Given the description of an element on the screen output the (x, y) to click on. 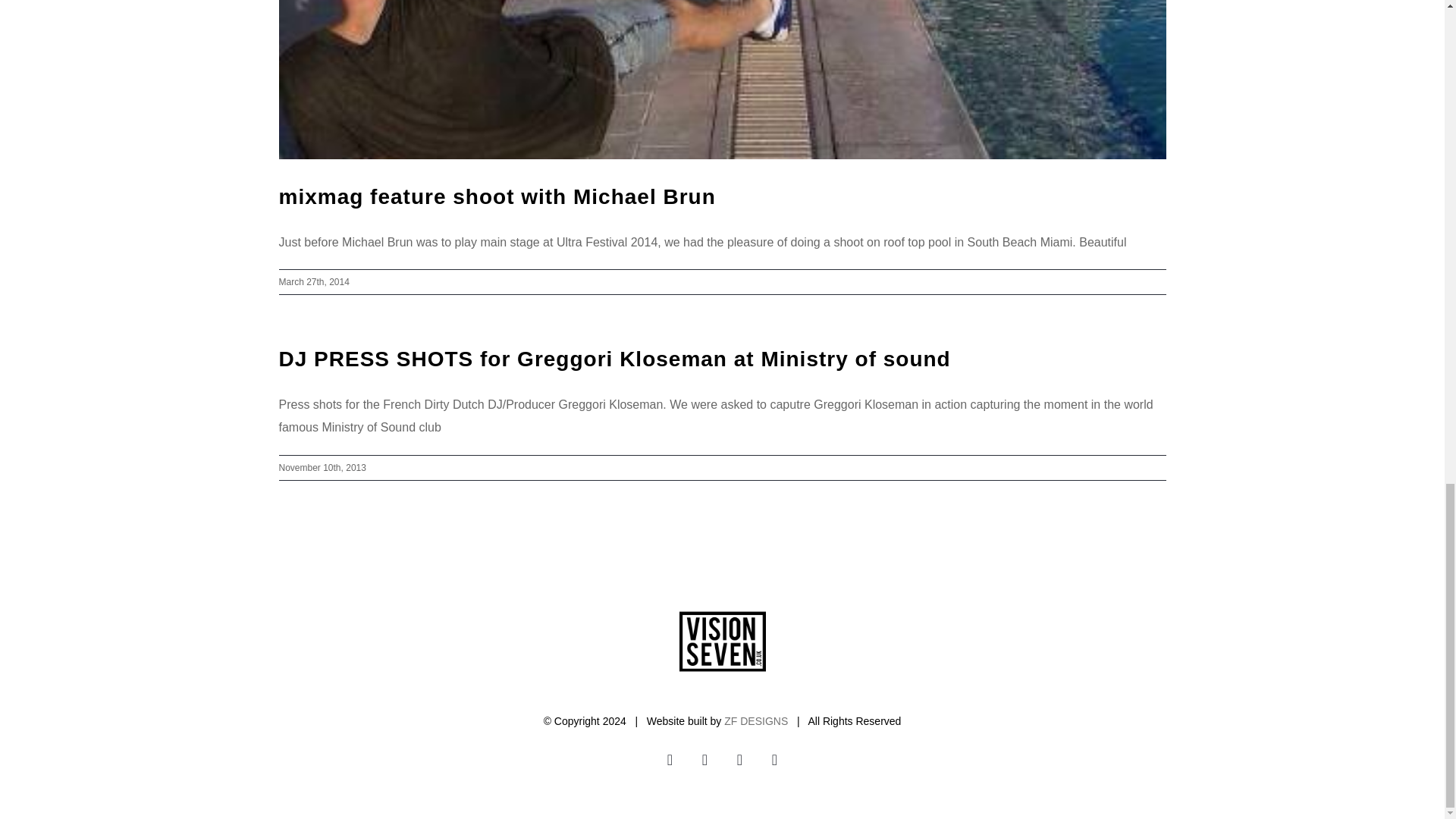
ZF DESIGNS (755, 720)
Facebook (740, 759)
Vimeo (670, 759)
mixmag feature shoot with Michael Brun (497, 196)
Twitter (775, 759)
DJ PRESS SHOTS for Greggori Kloseman at Ministry of sound (614, 359)
Instagram (705, 759)
